Given the description of an element on the screen output the (x, y) to click on. 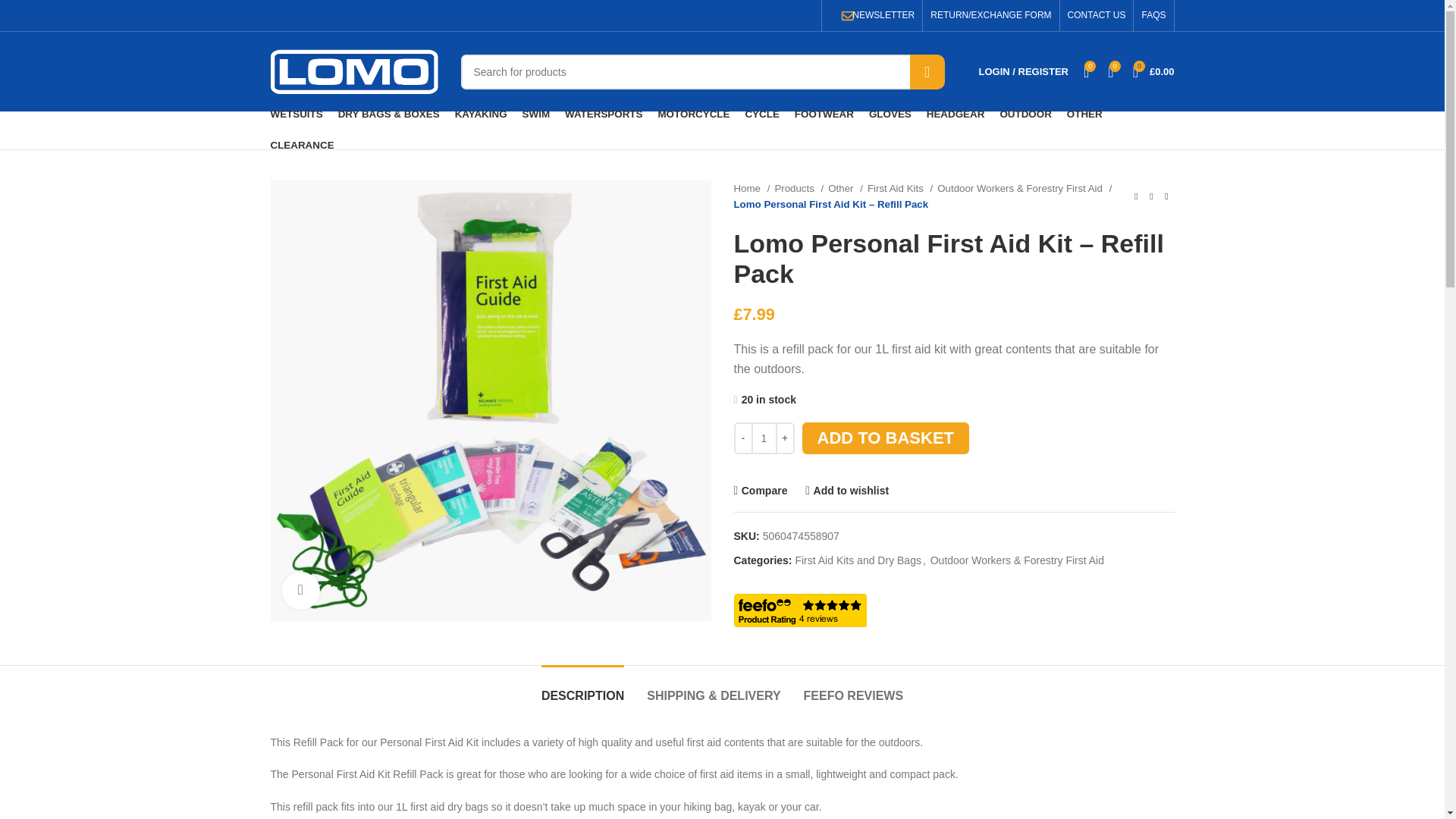
Our Feefo product rating (799, 610)
WETSUITS (295, 114)
CONTACT US (1096, 15)
NEWSLETTER (882, 15)
SWIM (536, 114)
SEARCH (927, 71)
Shopping cart (1153, 71)
Search for products (702, 71)
